Given the description of an element on the screen output the (x, y) to click on. 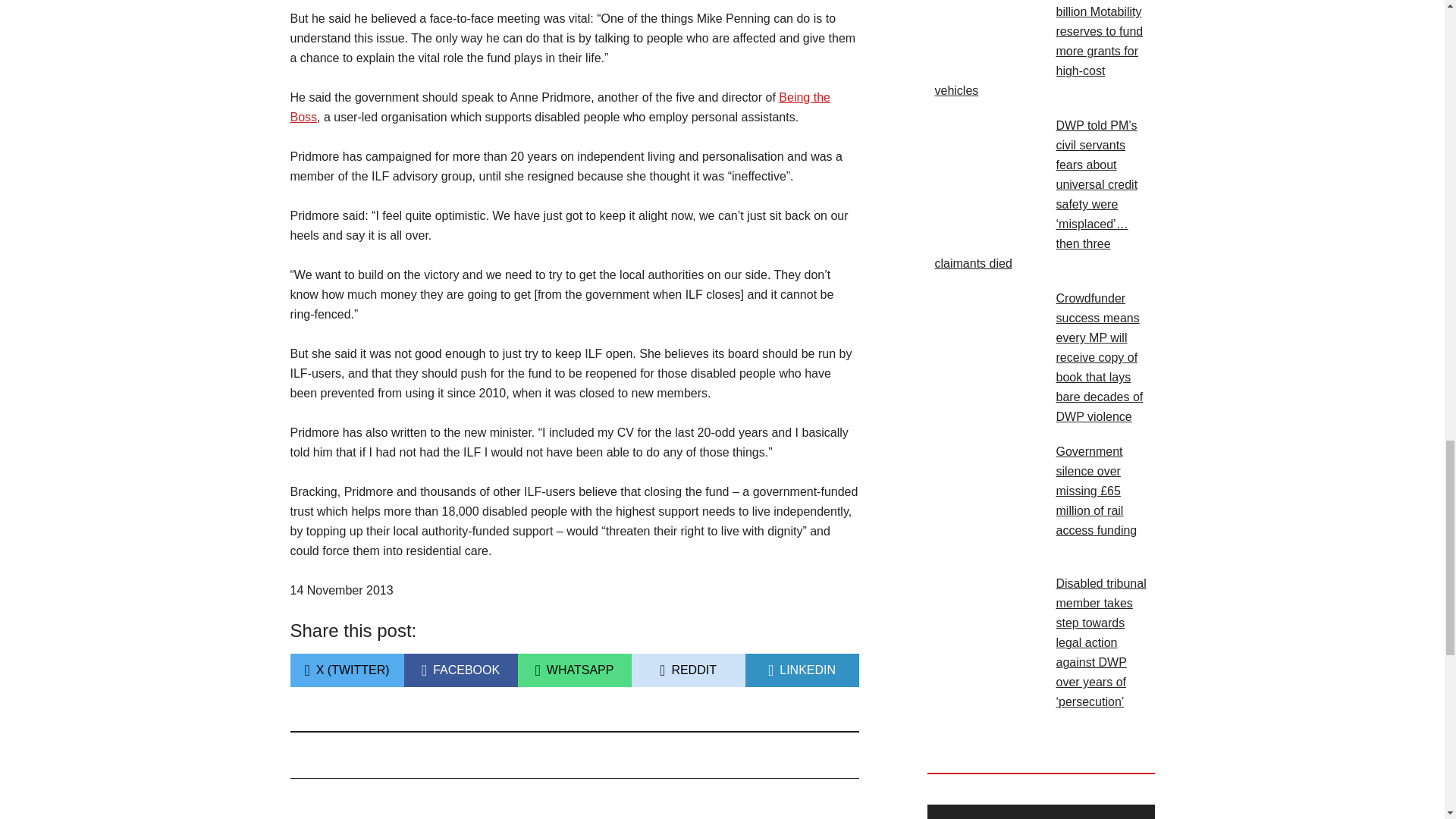
Being the Boss (801, 670)
